Given the description of an element on the screen output the (x, y) to click on. 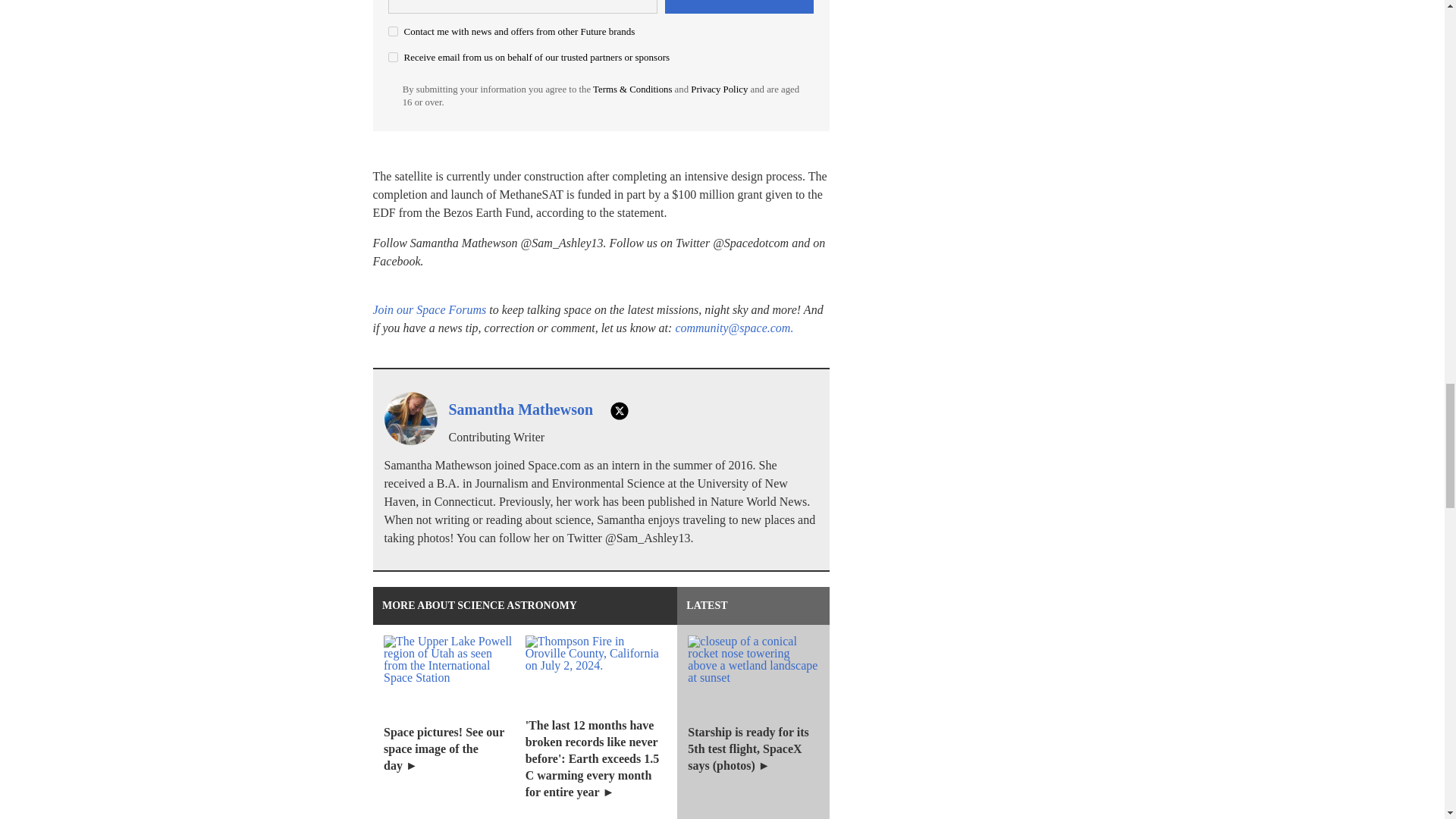
Sign me up (739, 6)
on (392, 57)
on (392, 31)
